Given the description of an element on the screen output the (x, y) to click on. 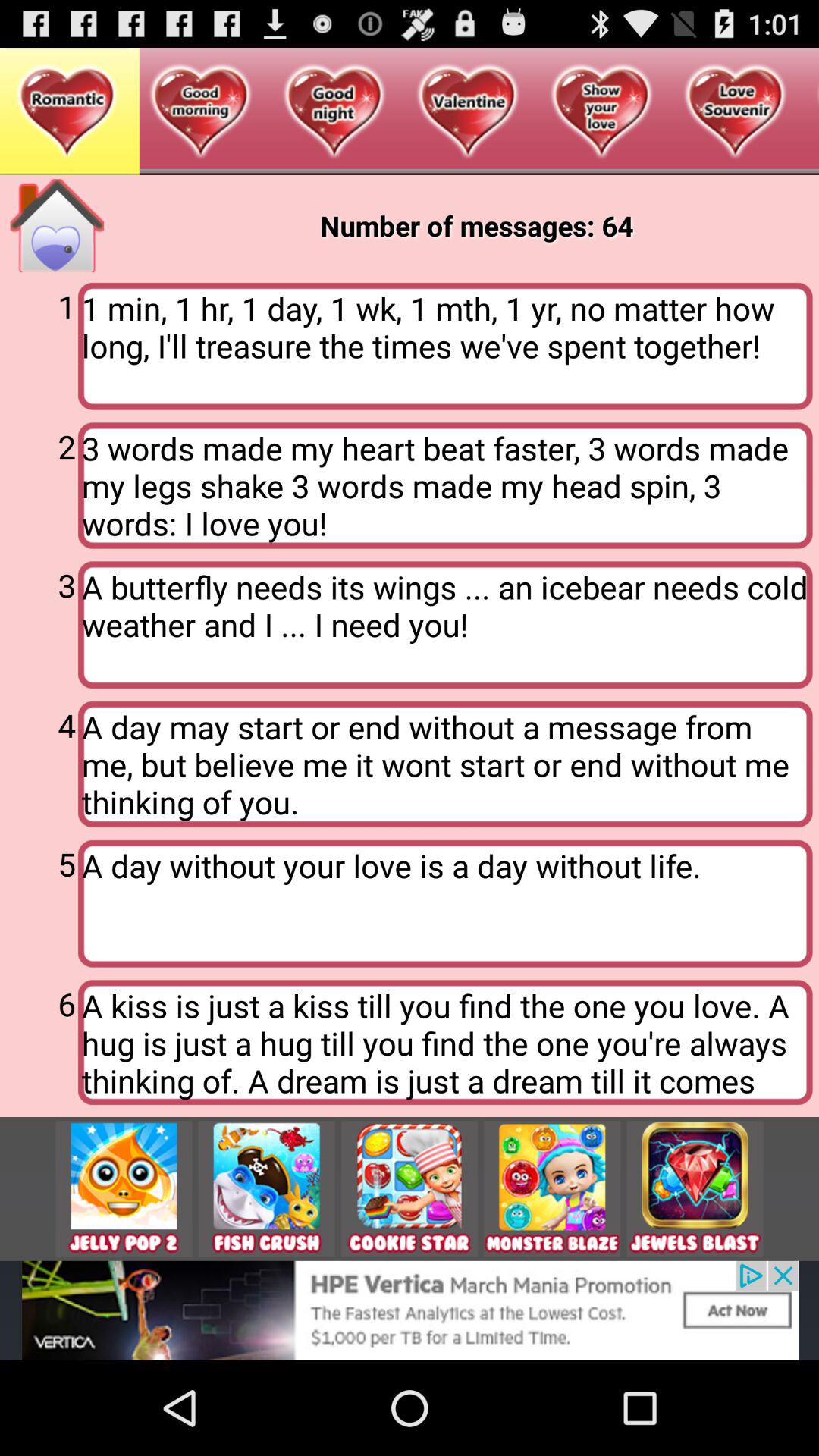
go to home page (57, 225)
